Given the description of an element on the screen output the (x, y) to click on. 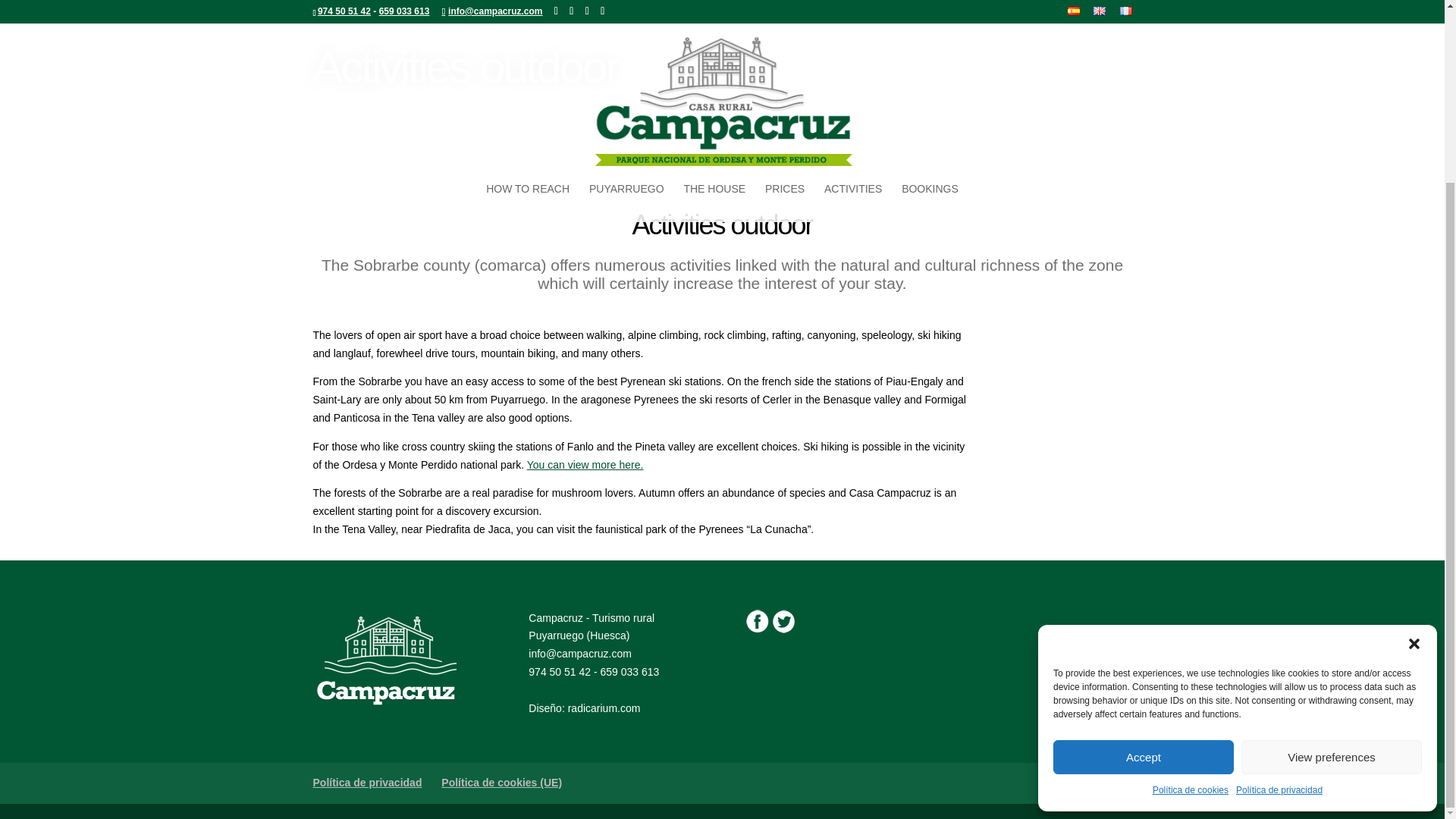
Accept (1142, 531)
View preferences (1331, 531)
